Given the description of an element on the screen output the (x, y) to click on. 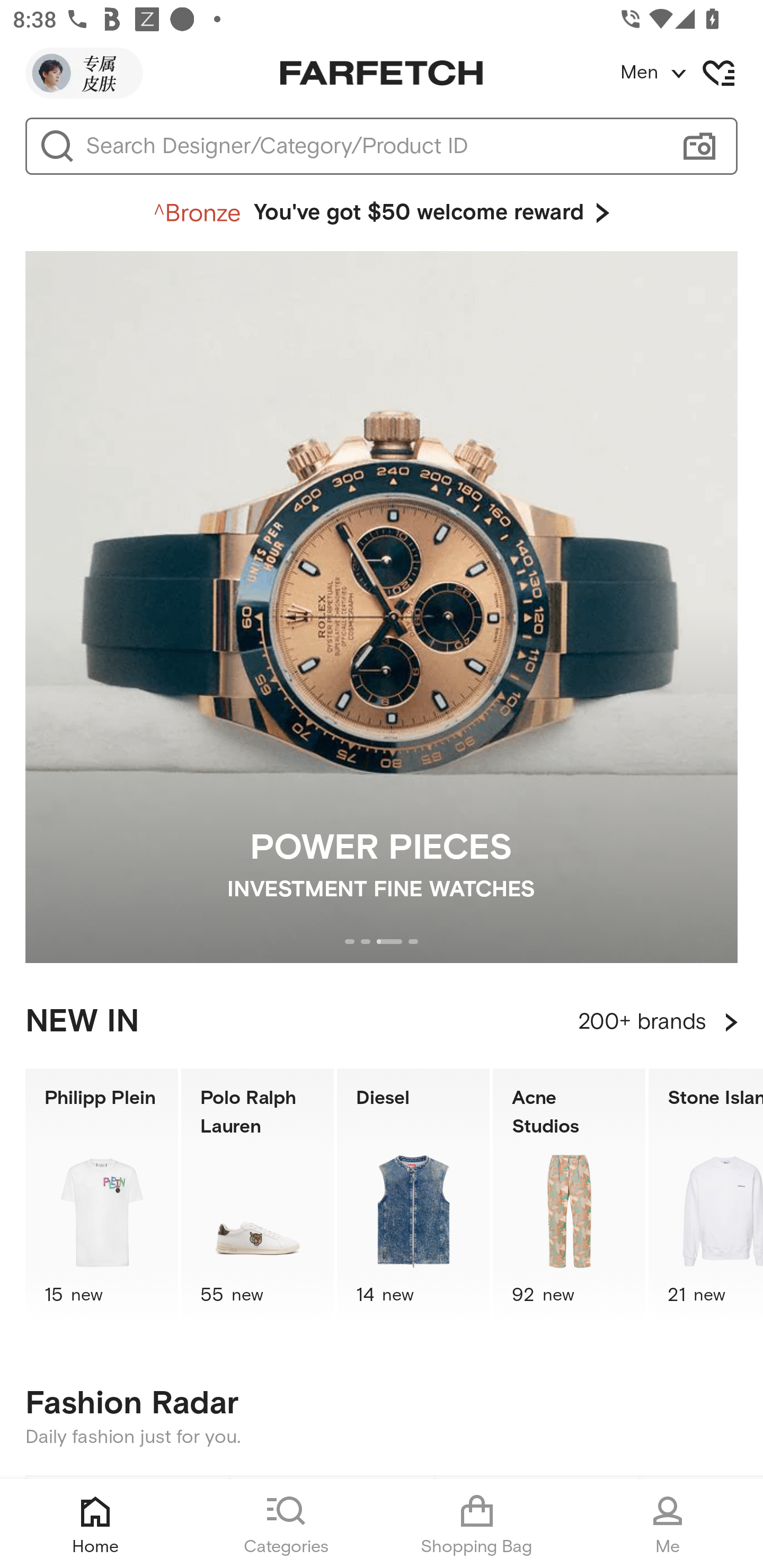
Men (691, 72)
Search Designer/Category/Product ID (373, 146)
You've got $50 welcome reward (381, 213)
NEW IN 200+ brands (381, 1021)
Philipp Plein 15  new (101, 1196)
Polo Ralph Lauren 55  new (257, 1196)
Diesel 14  new (413, 1196)
Acne Studios 92  new (568, 1196)
Stone Island 21  new (705, 1196)
Sale (127, 1522)
Categories (285, 1523)
Shopping Bag (476, 1523)
Me (667, 1523)
